Given the description of an element on the screen output the (x, y) to click on. 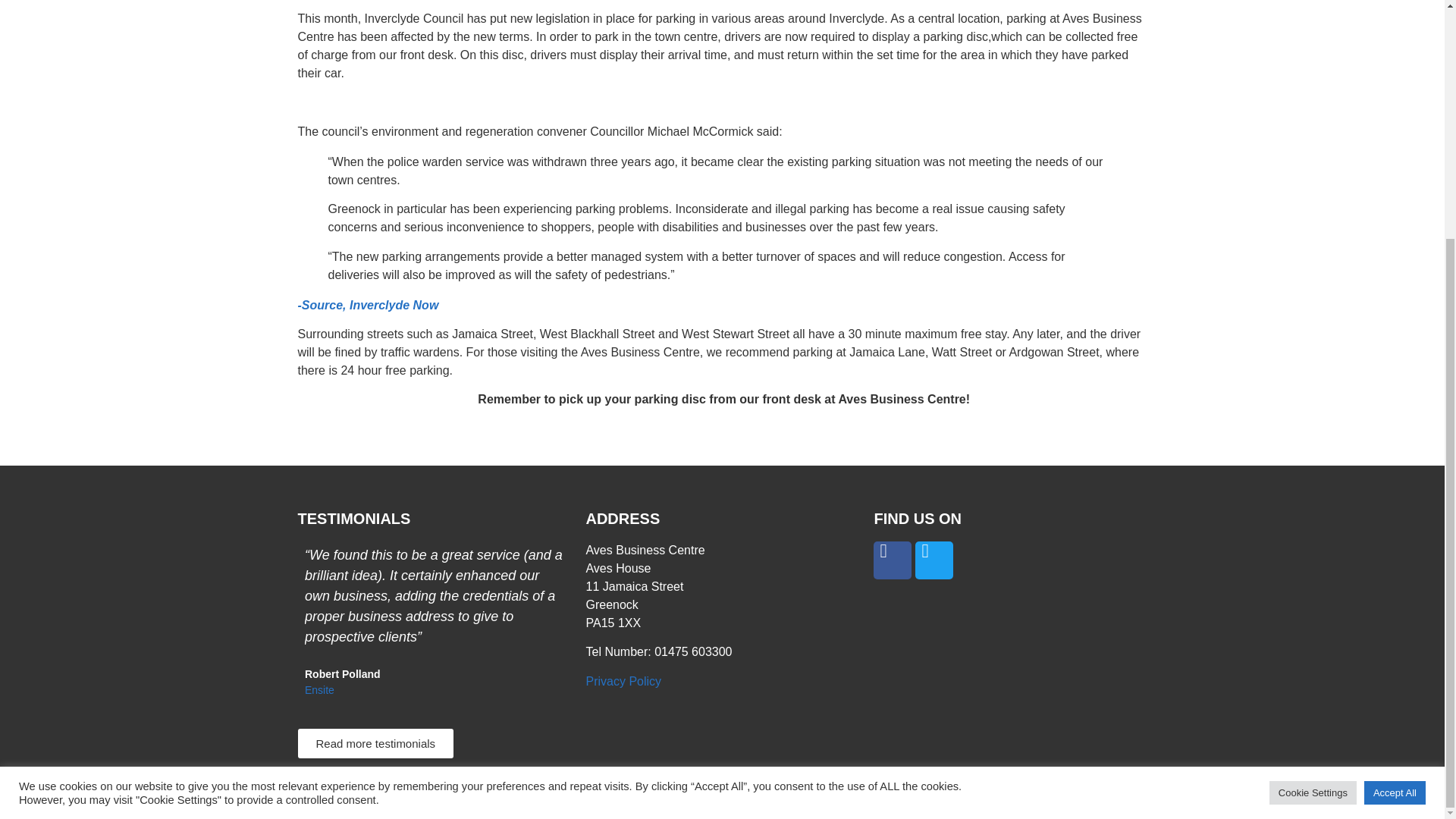
Privacy Policy (623, 680)
-Source, Inverclyde Now (367, 305)
Read more testimonials (374, 743)
